Given the description of an element on the screen output the (x, y) to click on. 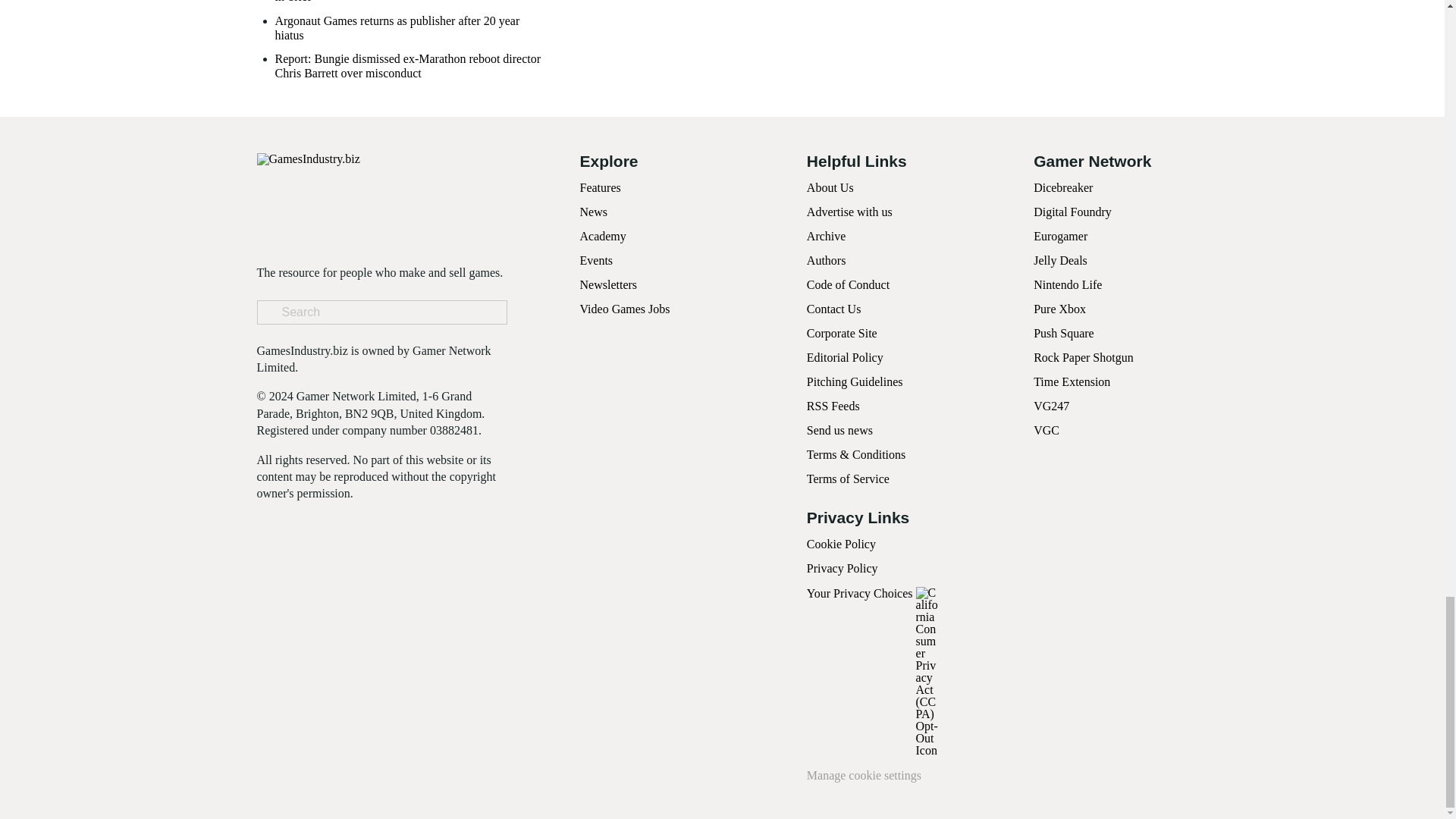
Video Games Jobs (624, 308)
About Us (829, 187)
Argonaut Games returns as publisher after 20 year hiatus (409, 27)
News (593, 211)
Events (595, 259)
Academy (602, 236)
Newsletters (608, 284)
Features (599, 187)
Advertise with us (849, 211)
